Given the description of an element on the screen output the (x, y) to click on. 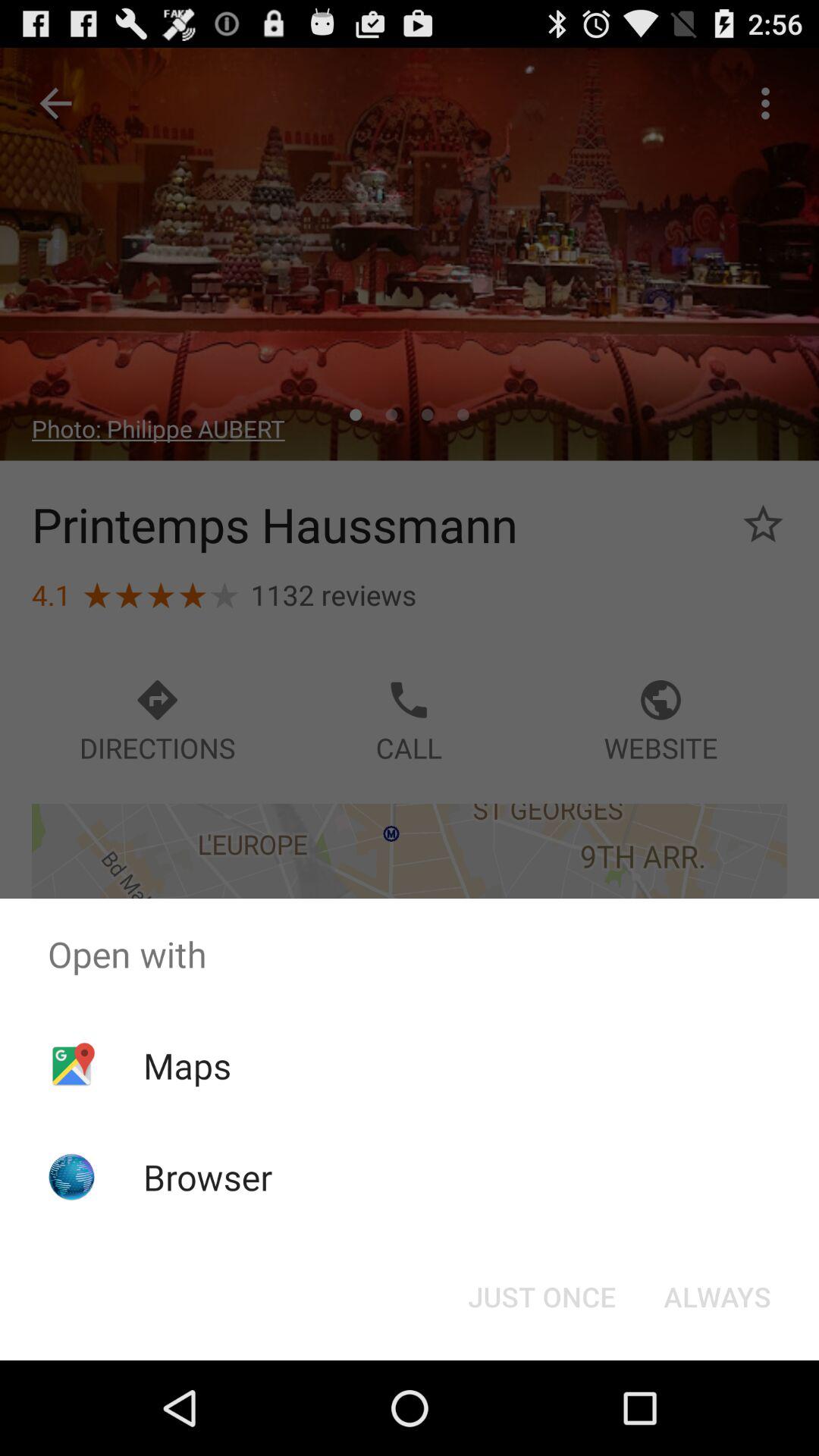
select item below the maps app (207, 1176)
